Given the description of an element on the screen output the (x, y) to click on. 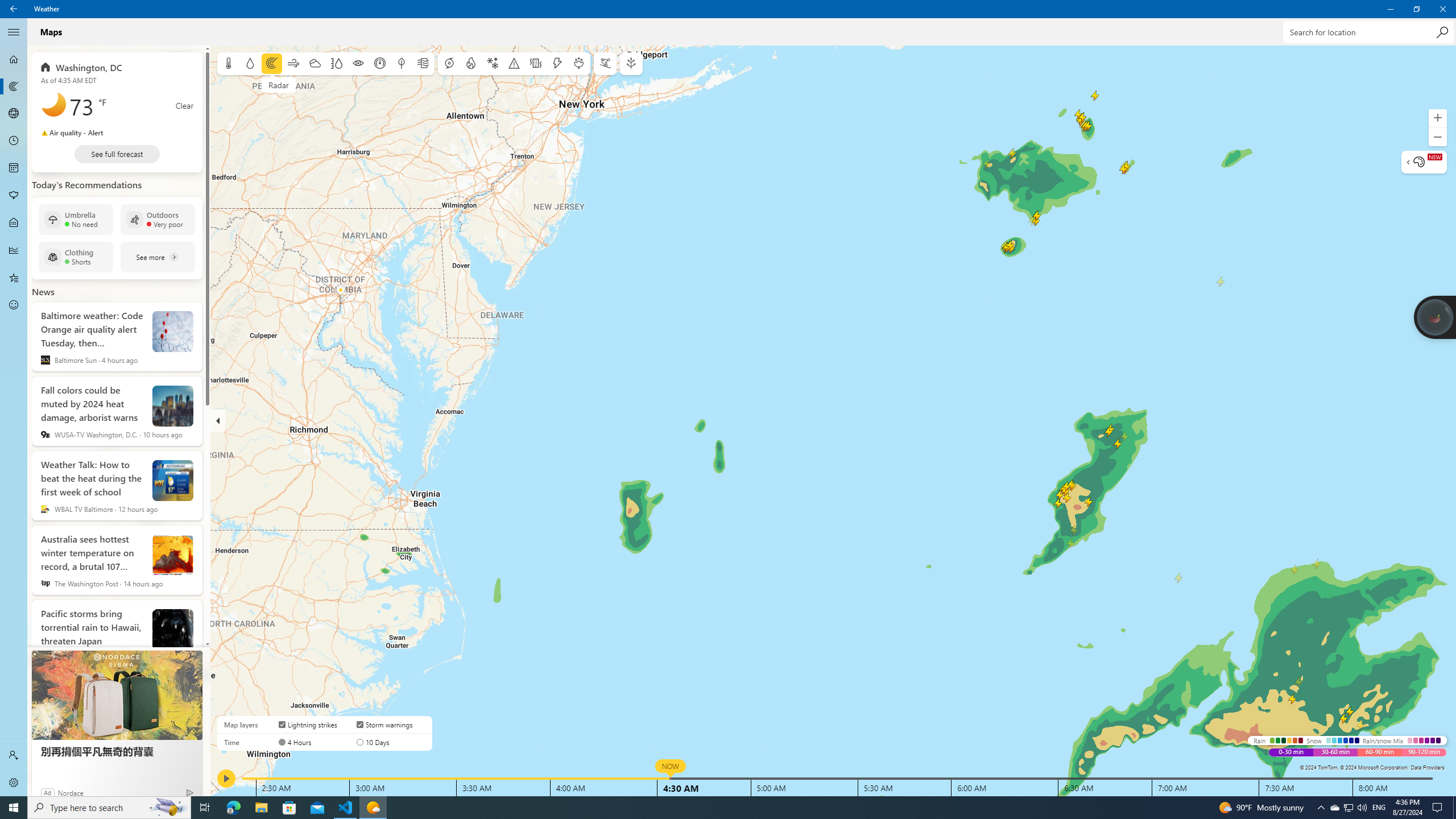
Sign in (13, 755)
User Promoted Notification Area (1347, 807)
Favorites - Not Selected (13, 277)
Forecast - Not Selected (13, 58)
Hourly Forecast - Not Selected (13, 140)
Search highlights icon opens search home window (167, 807)
Historical Weather - Not Selected (13, 249)
Monthly Forecast - Not Selected (13, 167)
Tray Input Indicator - English (United States) (1378, 807)
Q2790: 100% (1361, 807)
Maps - Not Selected (13, 85)
Close Weather (1442, 9)
Pollen - Not Selected (13, 195)
Weather - 1 running window (373, 807)
